Given the description of an element on the screen output the (x, y) to click on. 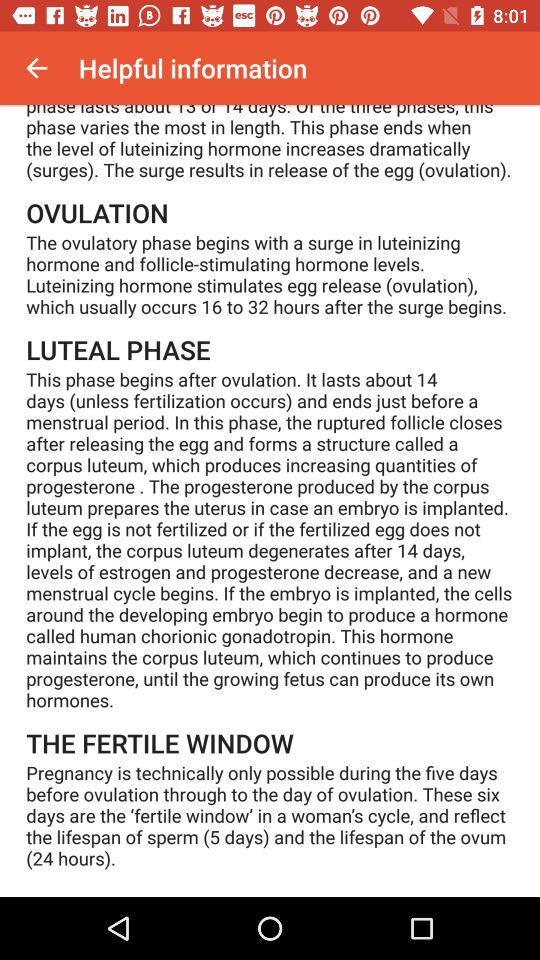
open the app to the left of the helpful information item (36, 68)
